Given the description of an element on the screen output the (x, y) to click on. 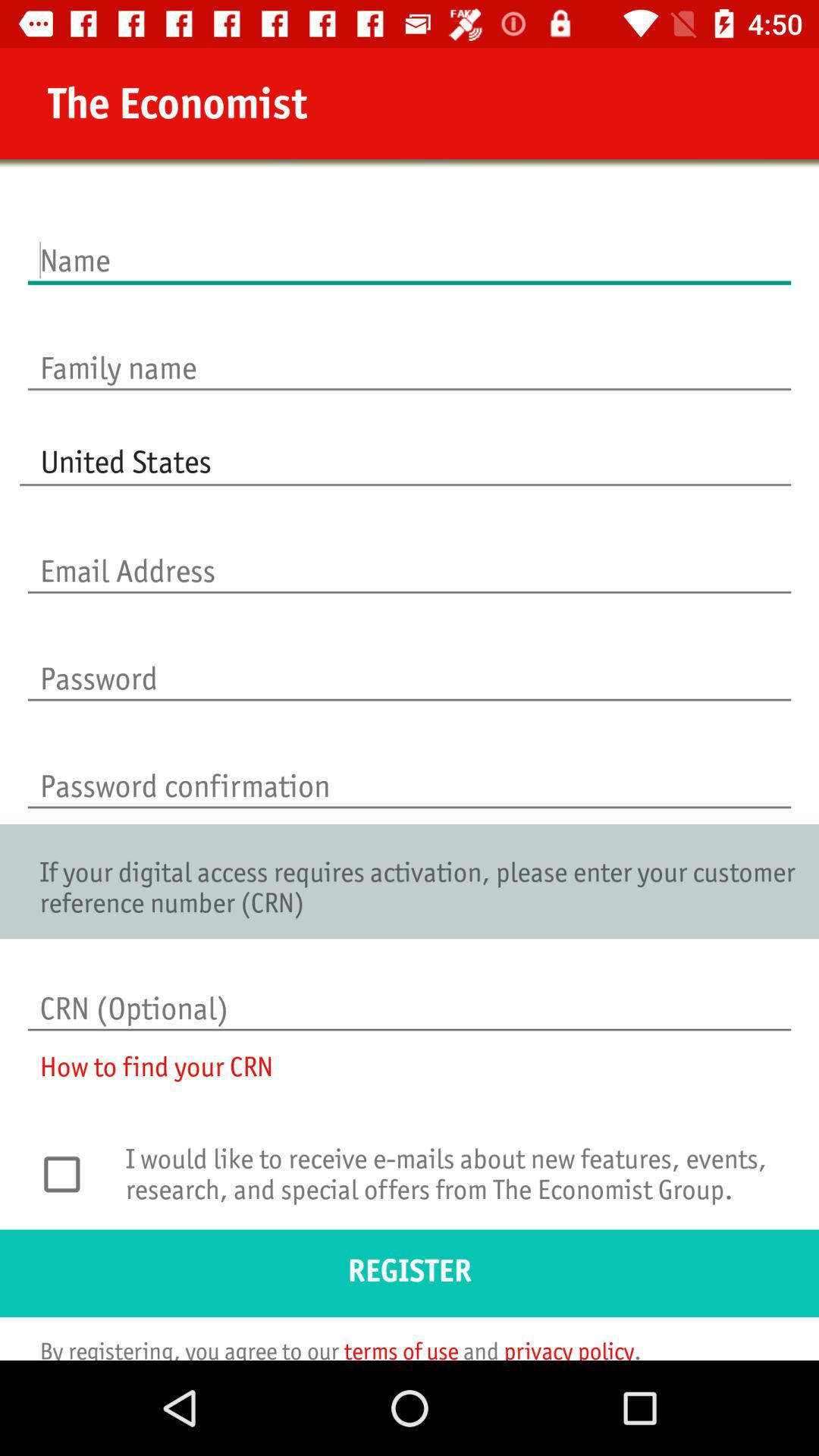
type family name (409, 352)
